Given the description of an element on the screen output the (x, y) to click on. 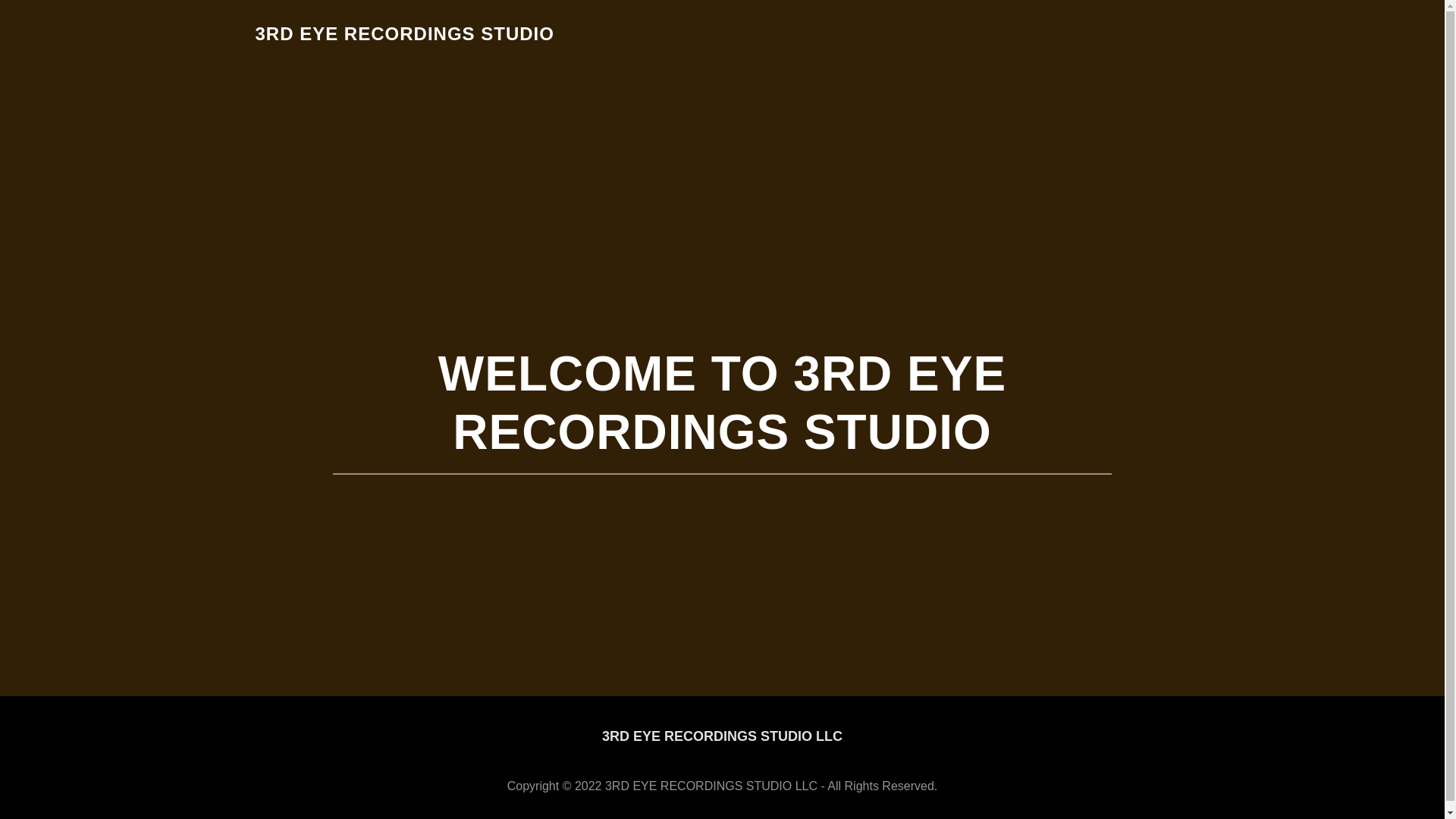
3RD EYE RECORDINGS STUDIO Element type: text (403, 35)
